Given the description of an element on the screen output the (x, y) to click on. 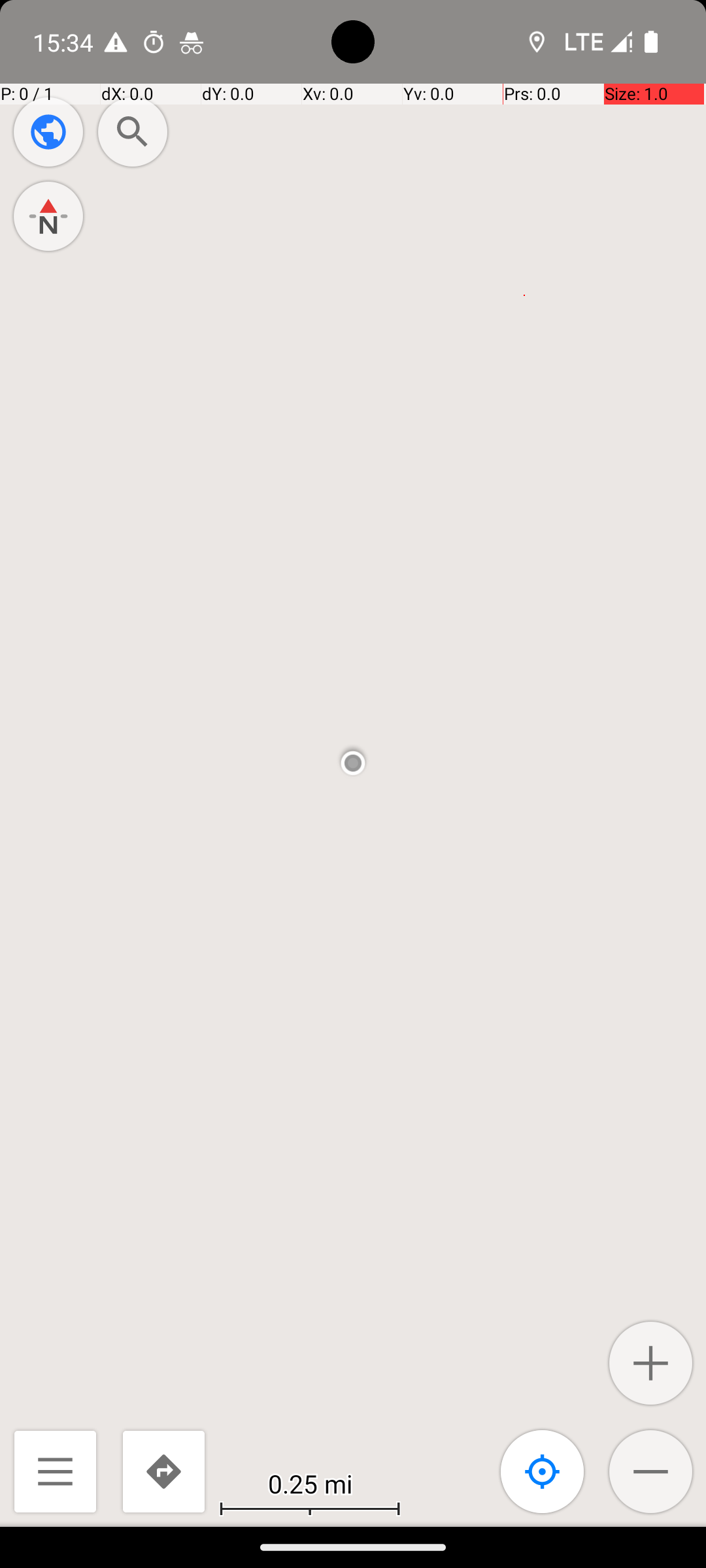
Map Element type: android.view.View (353, 763)
Configure map Element type: android.widget.ImageButton (48, 131)
North is up Element type: android.widget.ImageButton (48, 216)
Back to menu Element type: android.widget.ImageButton (55, 1471)
Route Element type: android.widget.ImageButton (163, 1471)
0.25 mi Element type: android.widget.TextView (309, 1483)
Map linked to location Element type: android.widget.ImageButton (542, 1471)
Zoom in Element type: android.widget.ImageButton (650, 1362)
Zoom out Element type: android.widget.ImageButton (650, 1471)
